Given the description of an element on the screen output the (x, y) to click on. 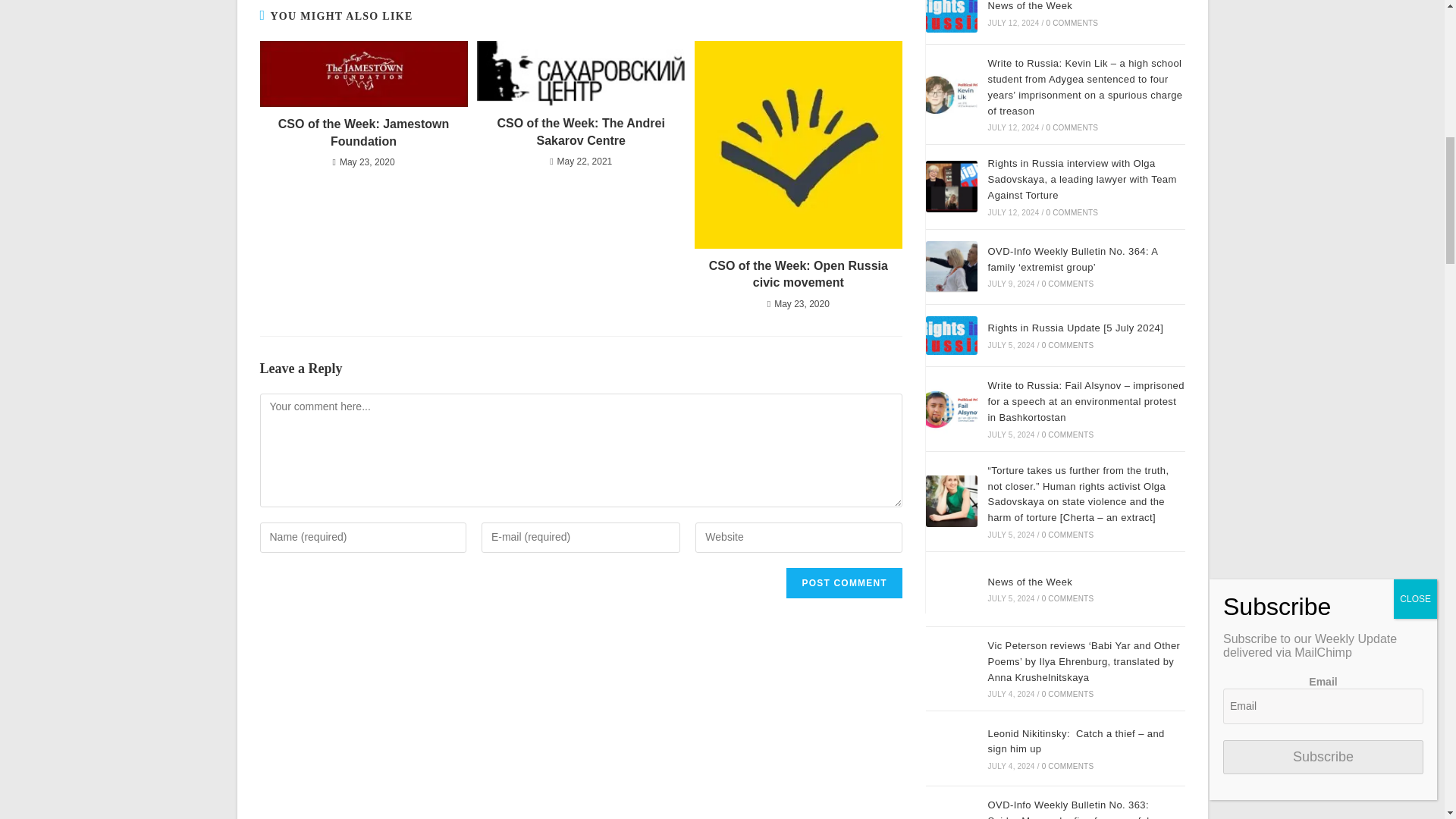
News of the Week (951, 589)
Post Comment (843, 583)
CSO of the Week: Jamestown Foundation (362, 132)
News of the Week (951, 16)
CSO of the Week: The Andrei Sakarov Centre (580, 132)
